Given the description of an element on the screen output the (x, y) to click on. 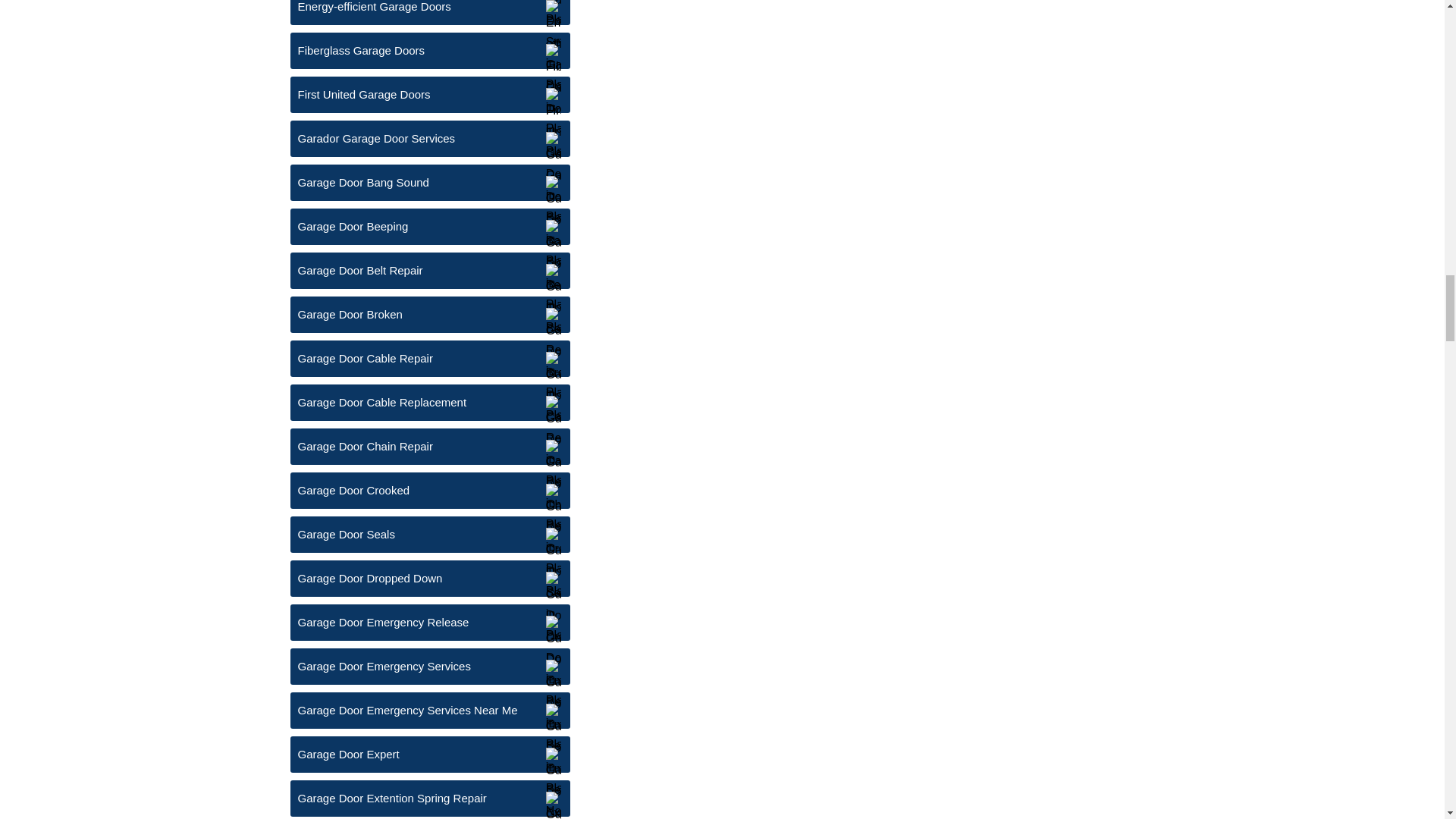
Garador Garage Door Services (429, 138)
Energy-efficient Garage Doors (429, 12)
Fiberglass Garage Doors (429, 50)
Garage Door Broken (429, 314)
Garage Door Belt Repair (429, 270)
First United Garage Doors (429, 94)
Garage Door Beeping (429, 226)
Garage Door Bang Sound (429, 182)
